Given the description of an element on the screen output the (x, y) to click on. 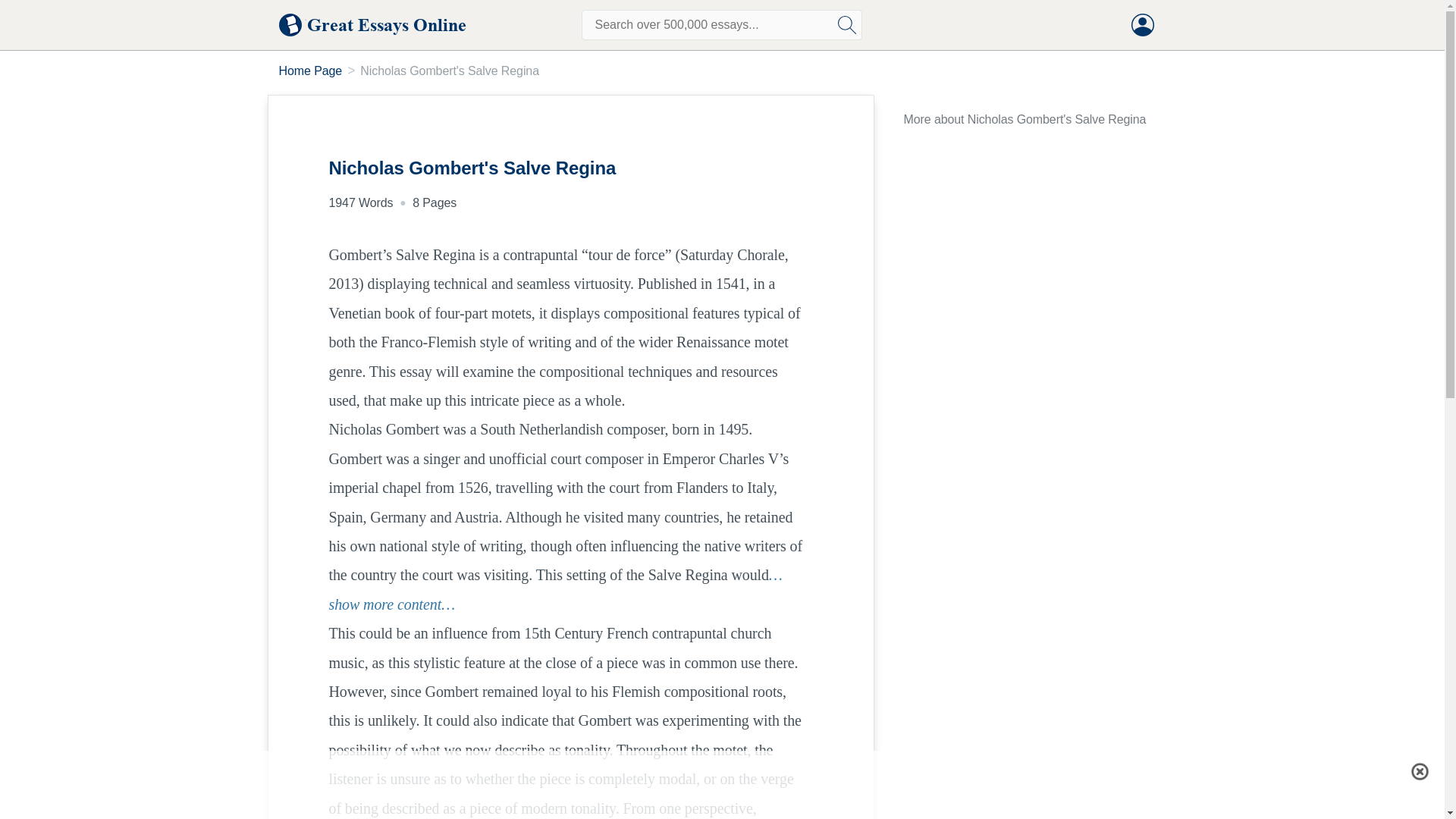
Home Page (310, 70)
3rd party ad content (721, 785)
